Given the description of an element on the screen output the (x, y) to click on. 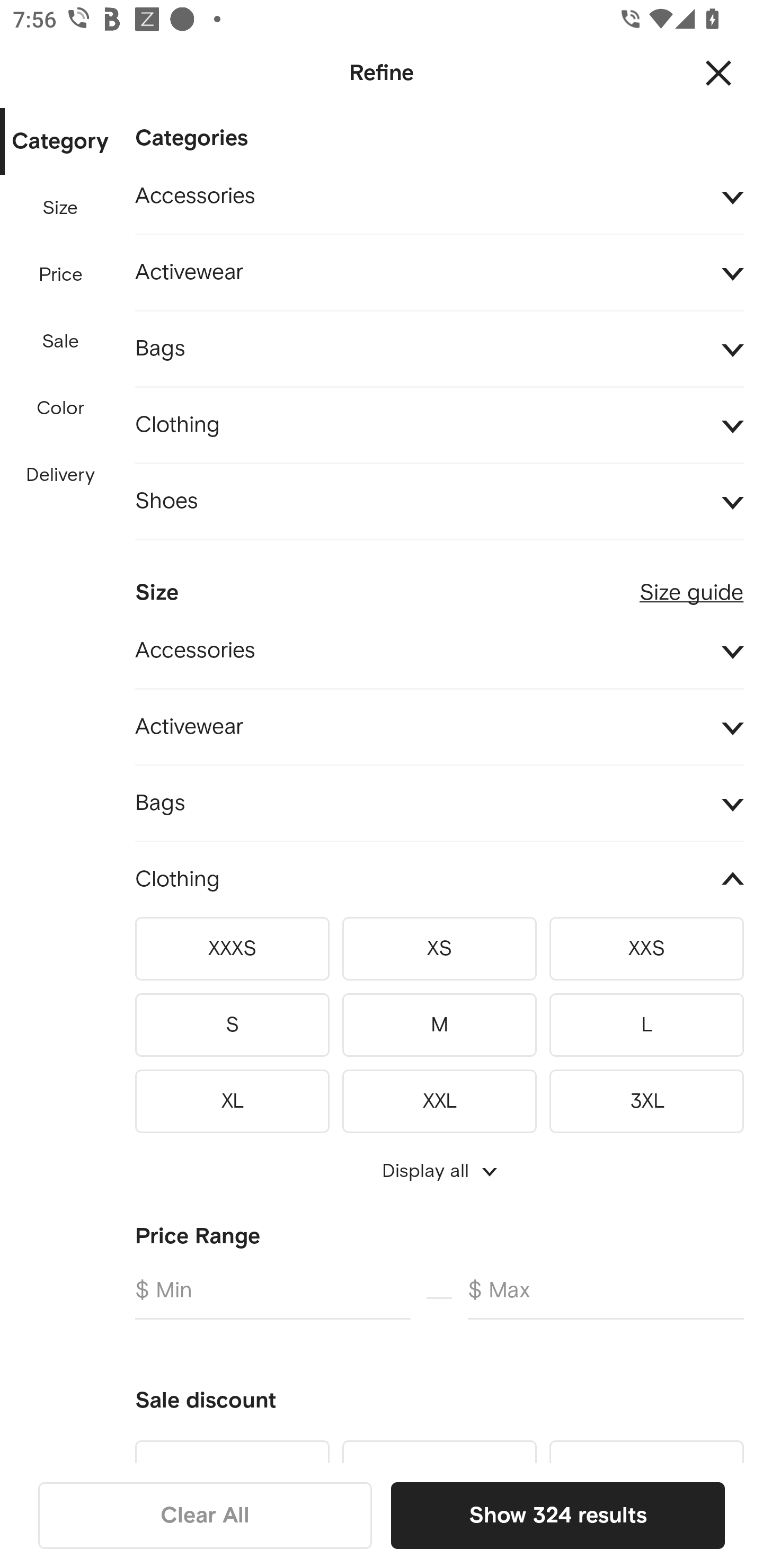
Category (60, 141)
Accessories (439, 196)
Size (60, 208)
Activewear (439, 272)
Price (60, 274)
Sale (60, 342)
Bags (439, 348)
Color (60, 408)
Clothing (439, 425)
Delivery (60, 475)
Shoes (439, 501)
Size guide (691, 585)
Accessories (439, 651)
Activewear (439, 727)
Bags (439, 803)
Clothing (439, 879)
XXXS (232, 948)
XS (439, 948)
XXS (646, 948)
S (232, 1024)
M (439, 1024)
L (646, 1024)
XL (232, 1098)
XXL (439, 1098)
3XL (646, 1098)
Display all (439, 1170)
$ Min (272, 1297)
$ Max (605, 1297)
Clear All (205, 1515)
Show 324 results (557, 1515)
